Given the description of an element on the screen output the (x, y) to click on. 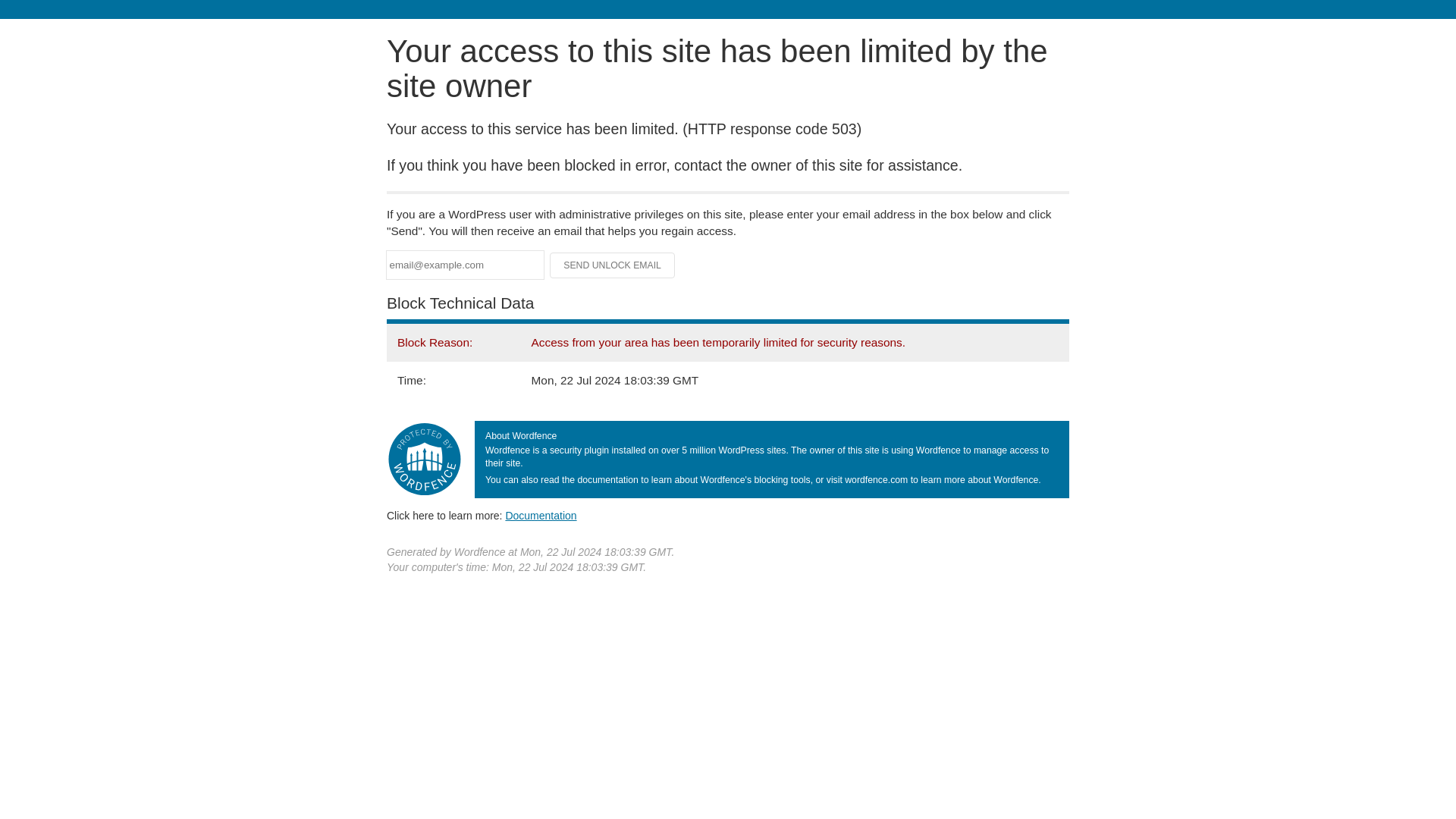
Send Unlock Email (612, 265)
Documentation (540, 515)
Send Unlock Email (612, 265)
